Given the description of an element on the screen output the (x, y) to click on. 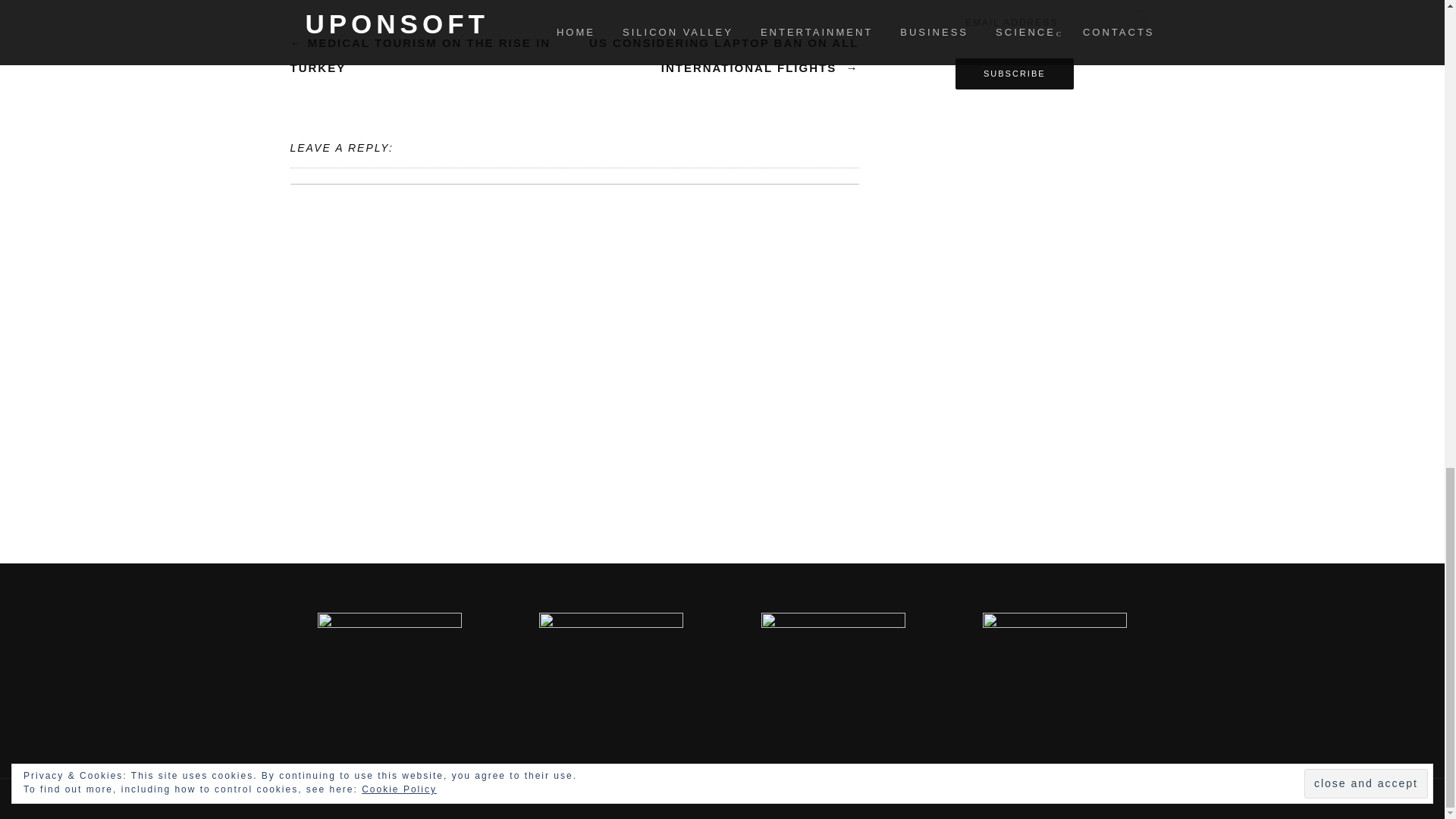
SUBSCRIBE (1014, 73)
WStudio (424, 798)
TrueNews (576, 798)
Dmnsa (479, 798)
